Given the description of an element on the screen output the (x, y) to click on. 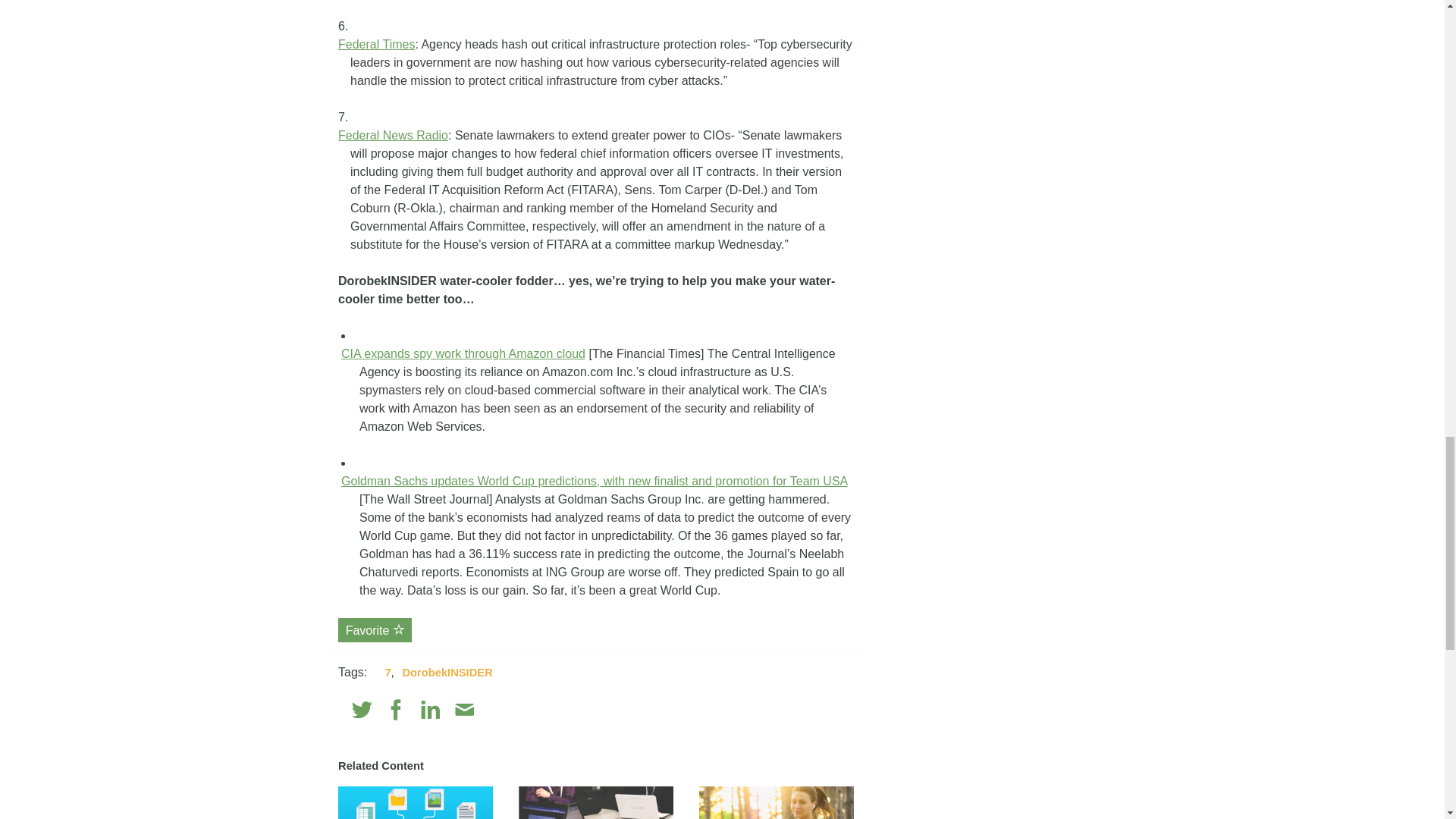
Linkedin (430, 710)
Twitter (362, 710)
Print (497, 710)
Facebook (395, 710)
Email (464, 710)
